Given the description of an element on the screen output the (x, y) to click on. 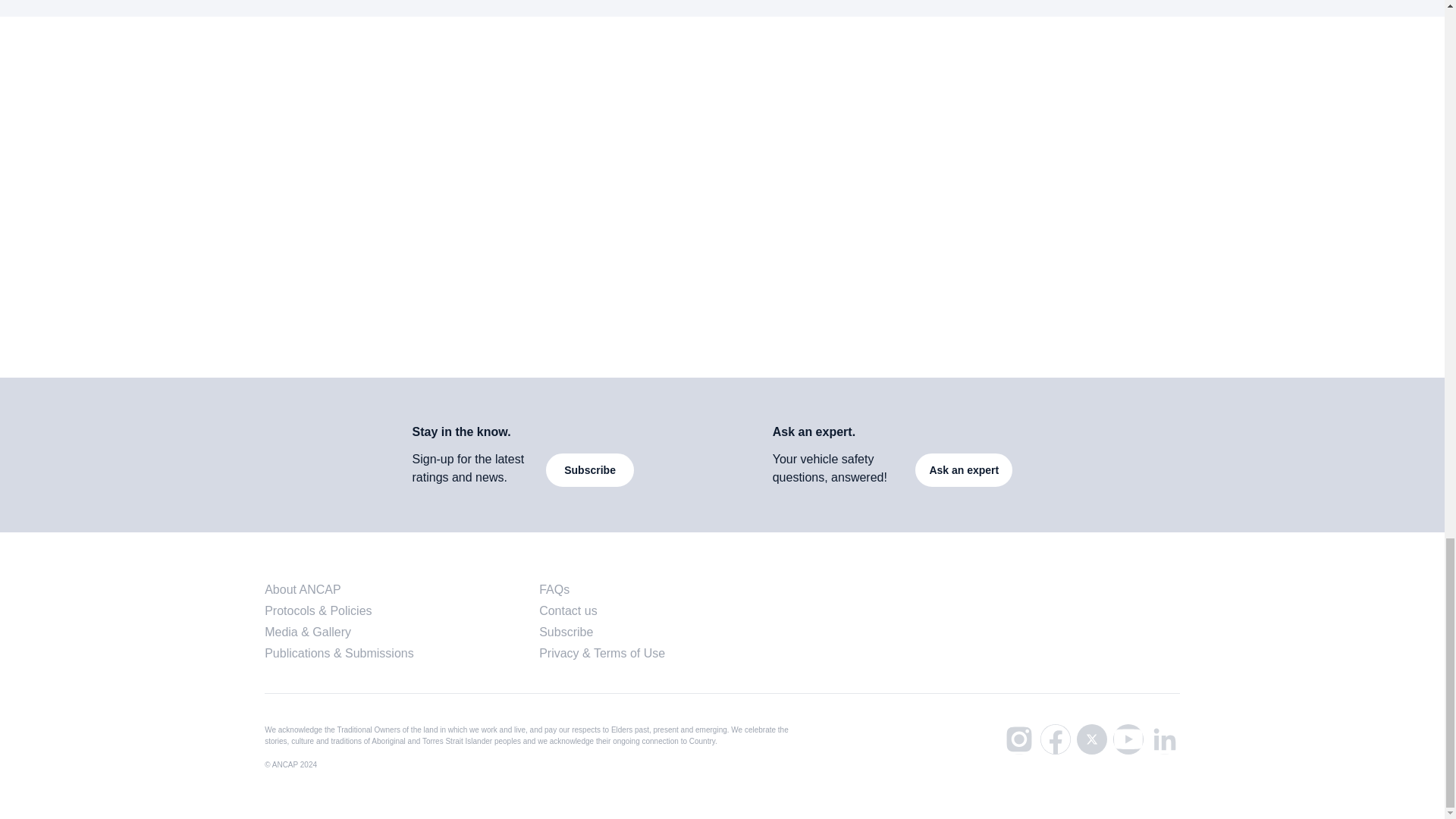
Subscribe (565, 631)
Contact us (567, 610)
FAQs (553, 589)
Subscribe (902, 196)
Ask an expert (180, 196)
About ANCAP (589, 469)
